Given the description of an element on the screen output the (x, y) to click on. 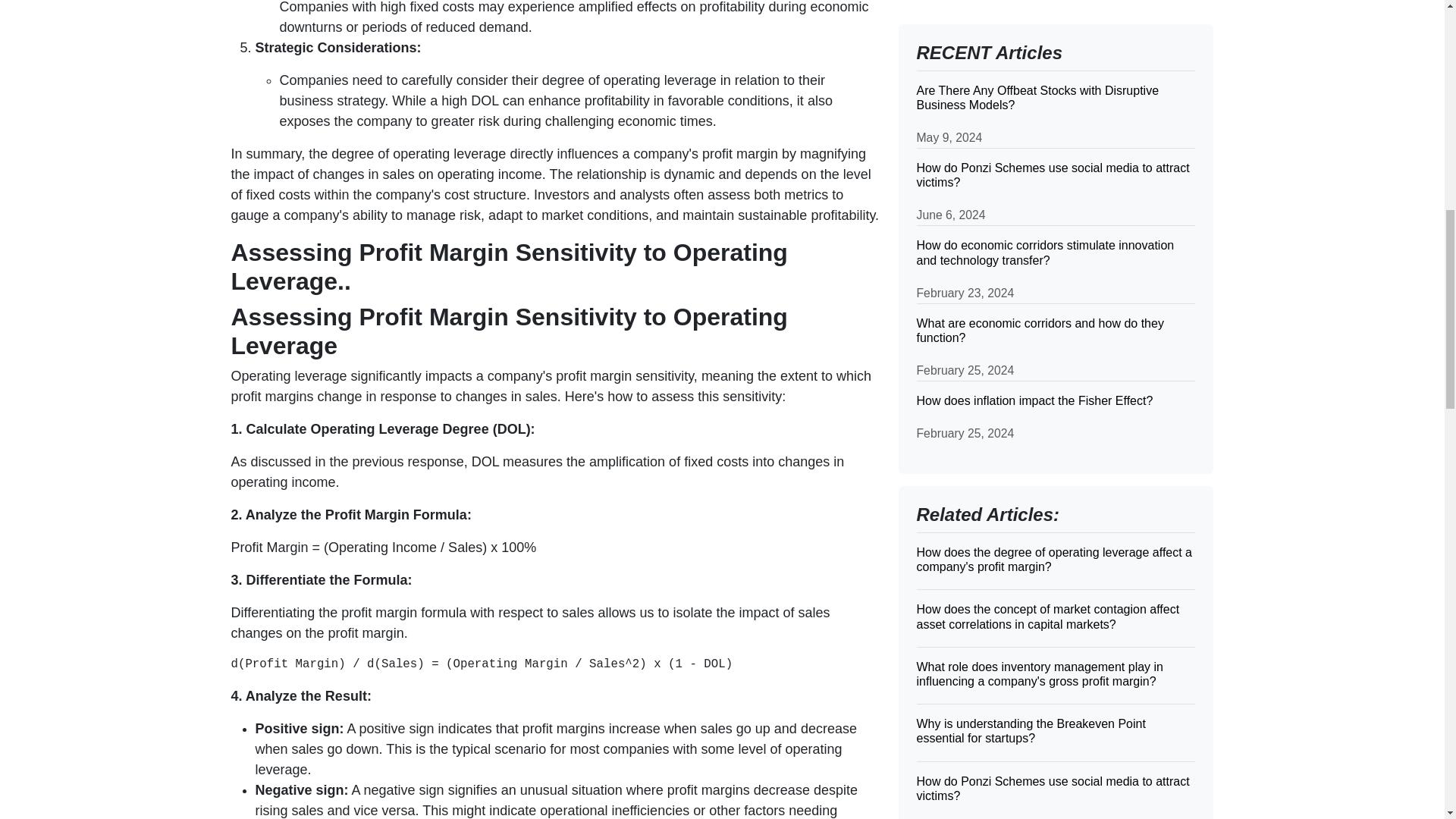
Oct,2023 (943, 238)
Jul,2023 (941, 299)
How do Ponzi Schemes use social media to attract victims? (1055, 31)
Feb,2024 (944, 156)
Nov,2023 (944, 218)
Aug,2023 (944, 279)
Sep,2023 (944, 258)
Dec,2023 (944, 197)
Jan,2024 (943, 177)
